Given the description of an element on the screen output the (x, y) to click on. 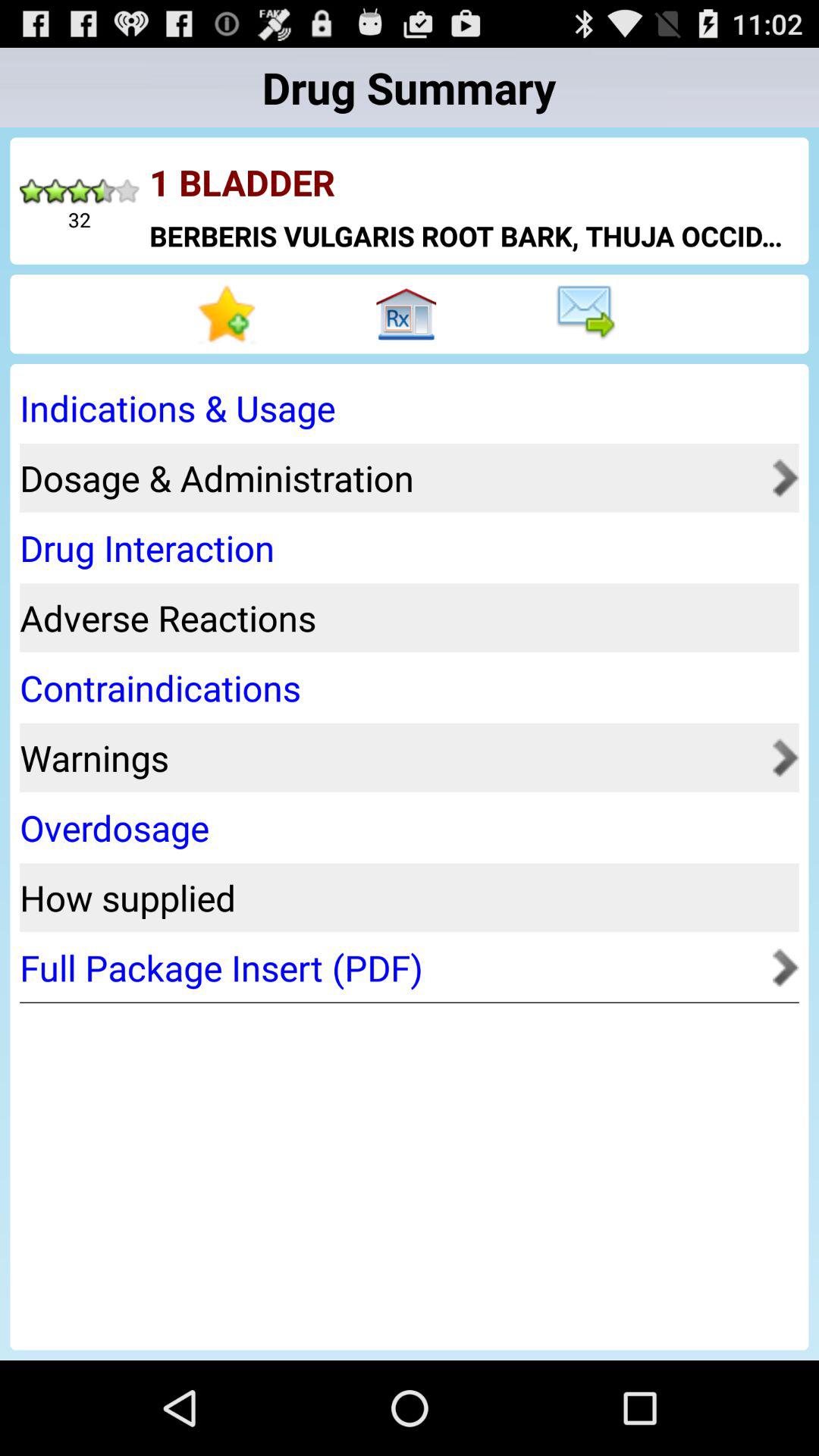
turn off drug interaction app (403, 547)
